Given the description of an element on the screen output the (x, y) to click on. 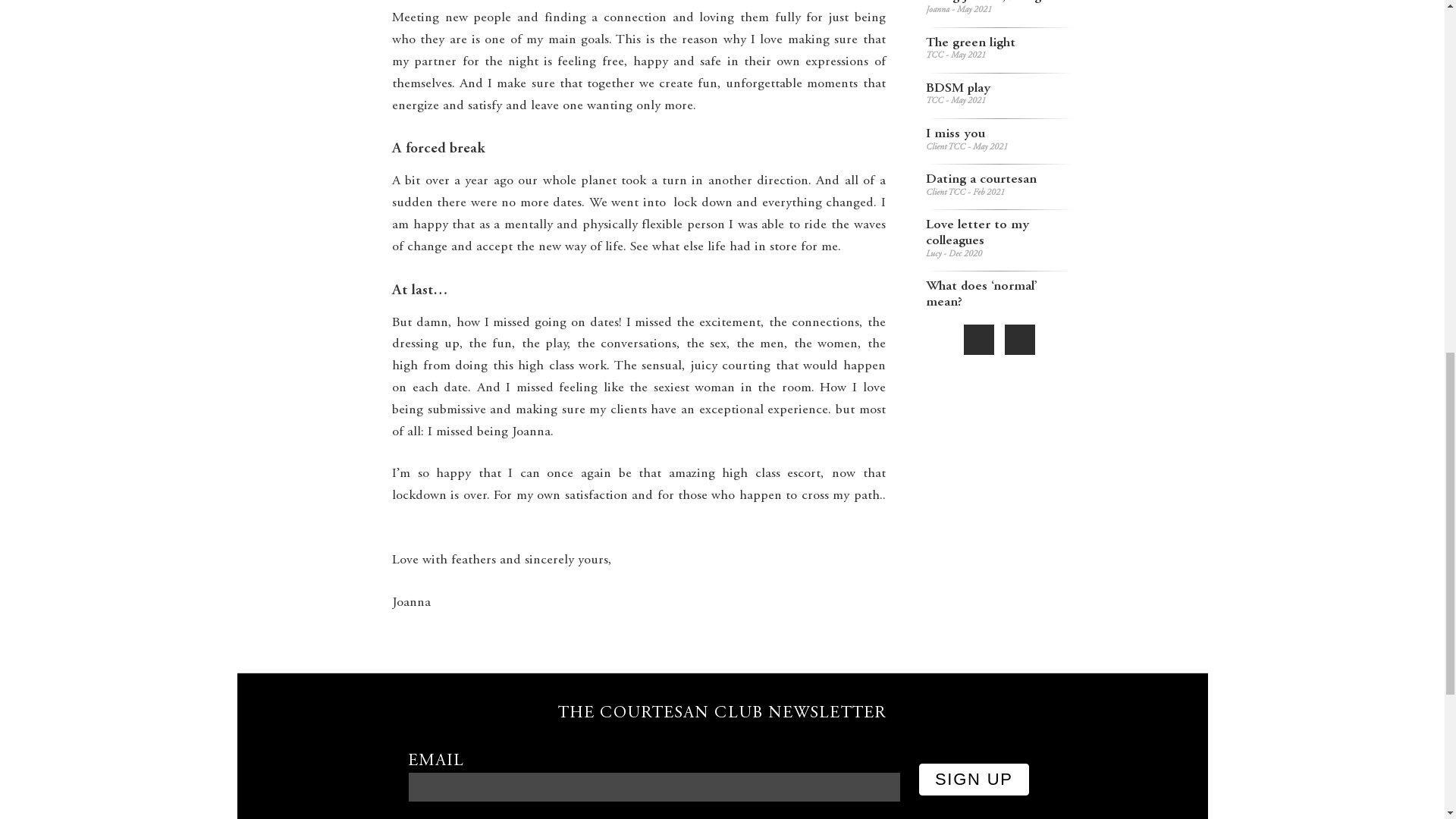
Sign up (999, 184)
Sign up (973, 779)
